Given the description of an element on the screen output the (x, y) to click on. 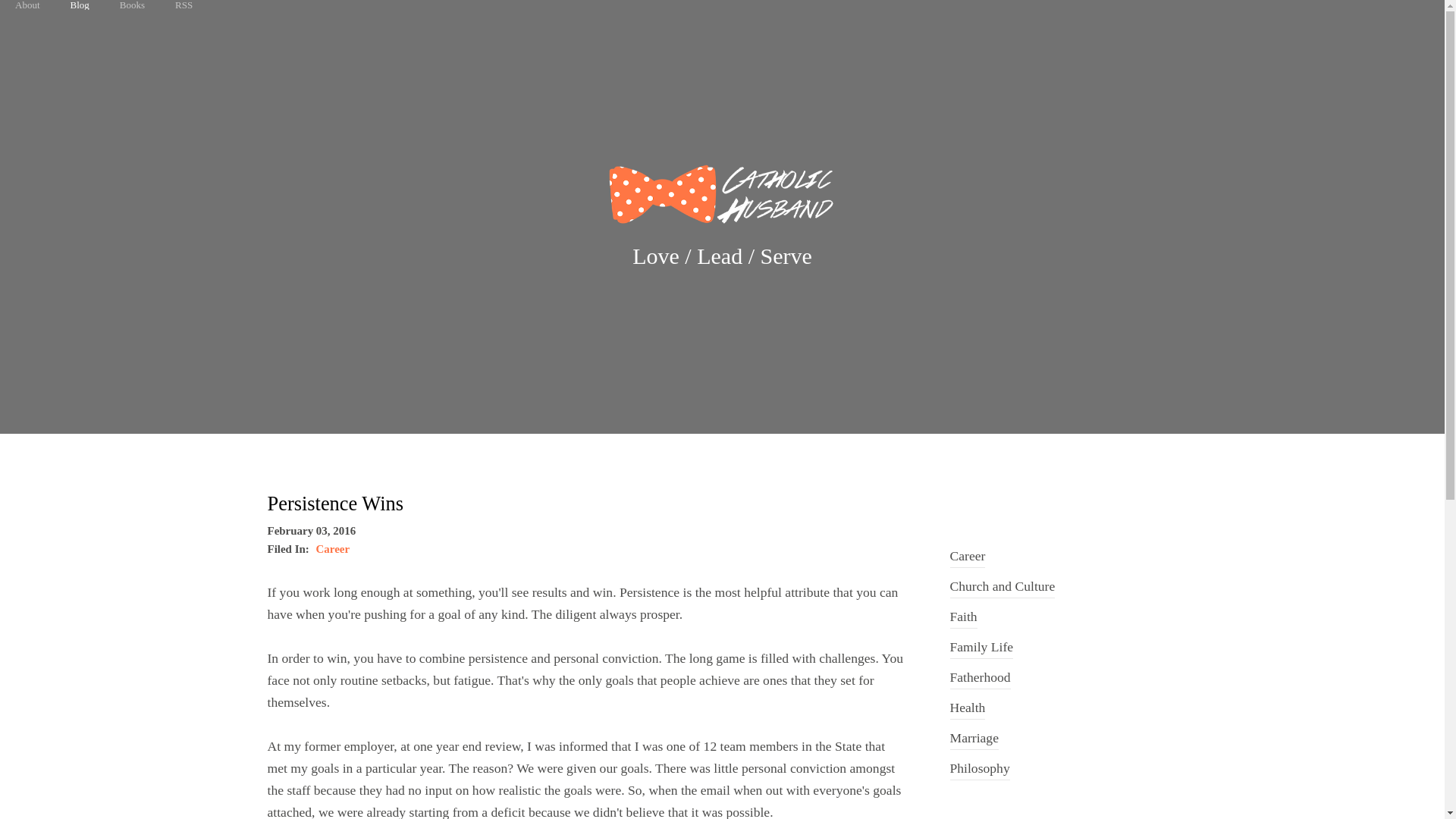
Blog (79, 4)
Books (132, 4)
Marriage (973, 734)
Faith (962, 613)
RSS (184, 4)
Fatherhood (979, 674)
Church and Culture (1001, 583)
About (27, 4)
Health (967, 704)
Career (333, 548)
